Given the description of an element on the screen output the (x, y) to click on. 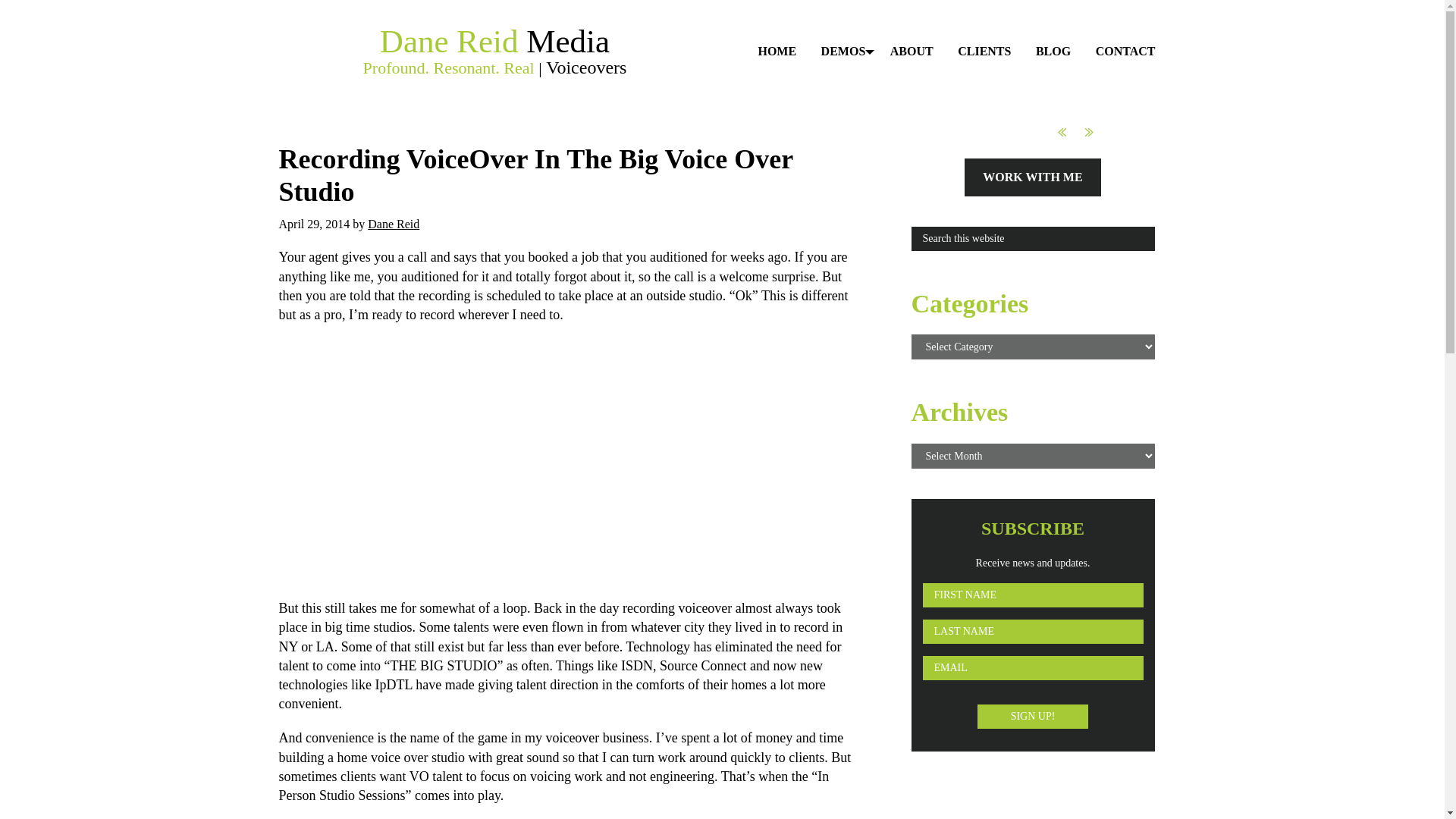
CLIENTS (984, 51)
Submenu (852, 56)
ABOUT (911, 51)
CONTACT (1126, 51)
Search (1165, 232)
DEMOS (843, 51)
BLOG (1052, 51)
HOME (776, 51)
Search (1165, 232)
SIGN UP! (1031, 716)
